Given the description of an element on the screen output the (x, y) to click on. 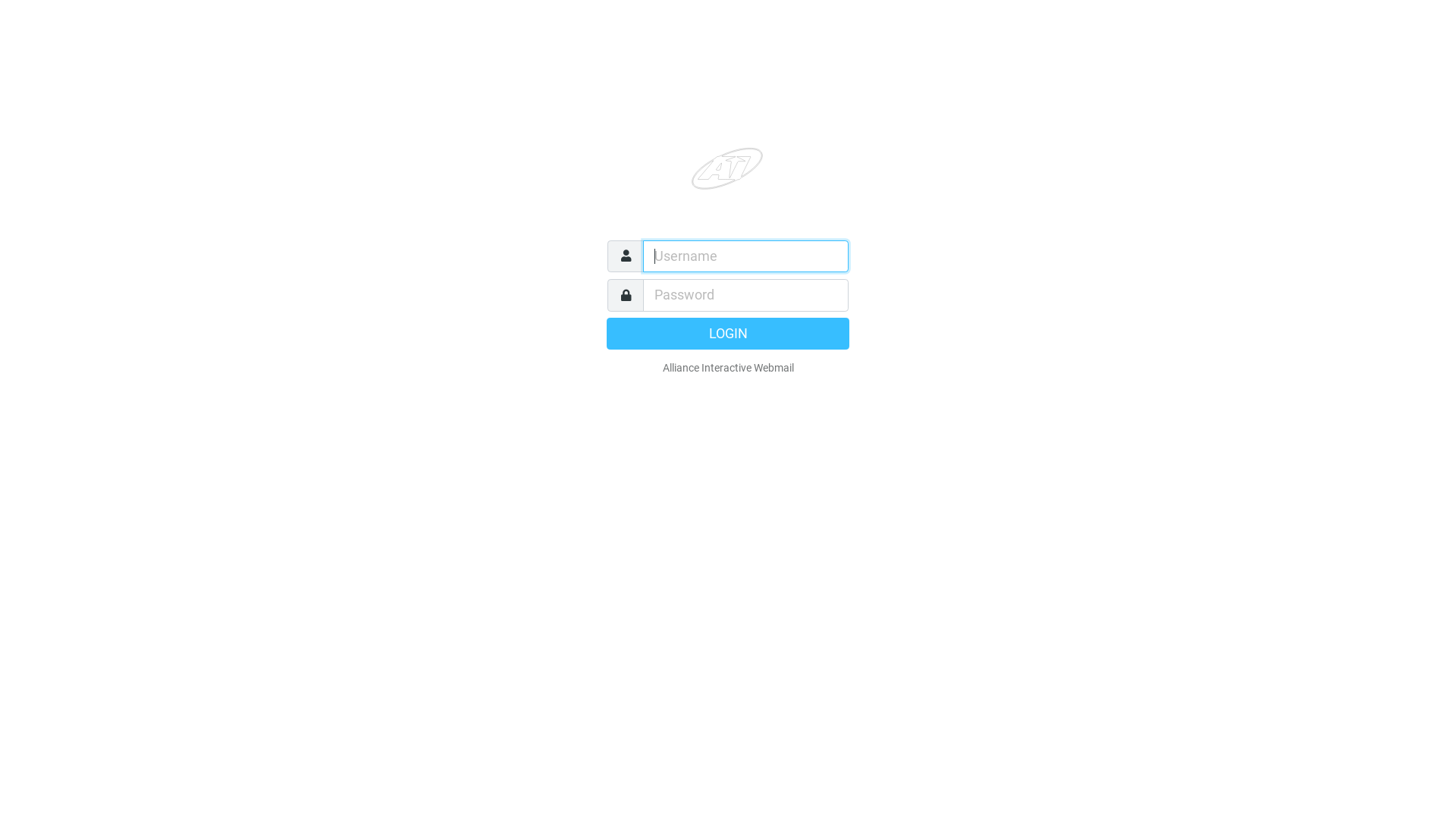
LOGIN Element type: text (727, 332)
